Given the description of an element on the screen output the (x, y) to click on. 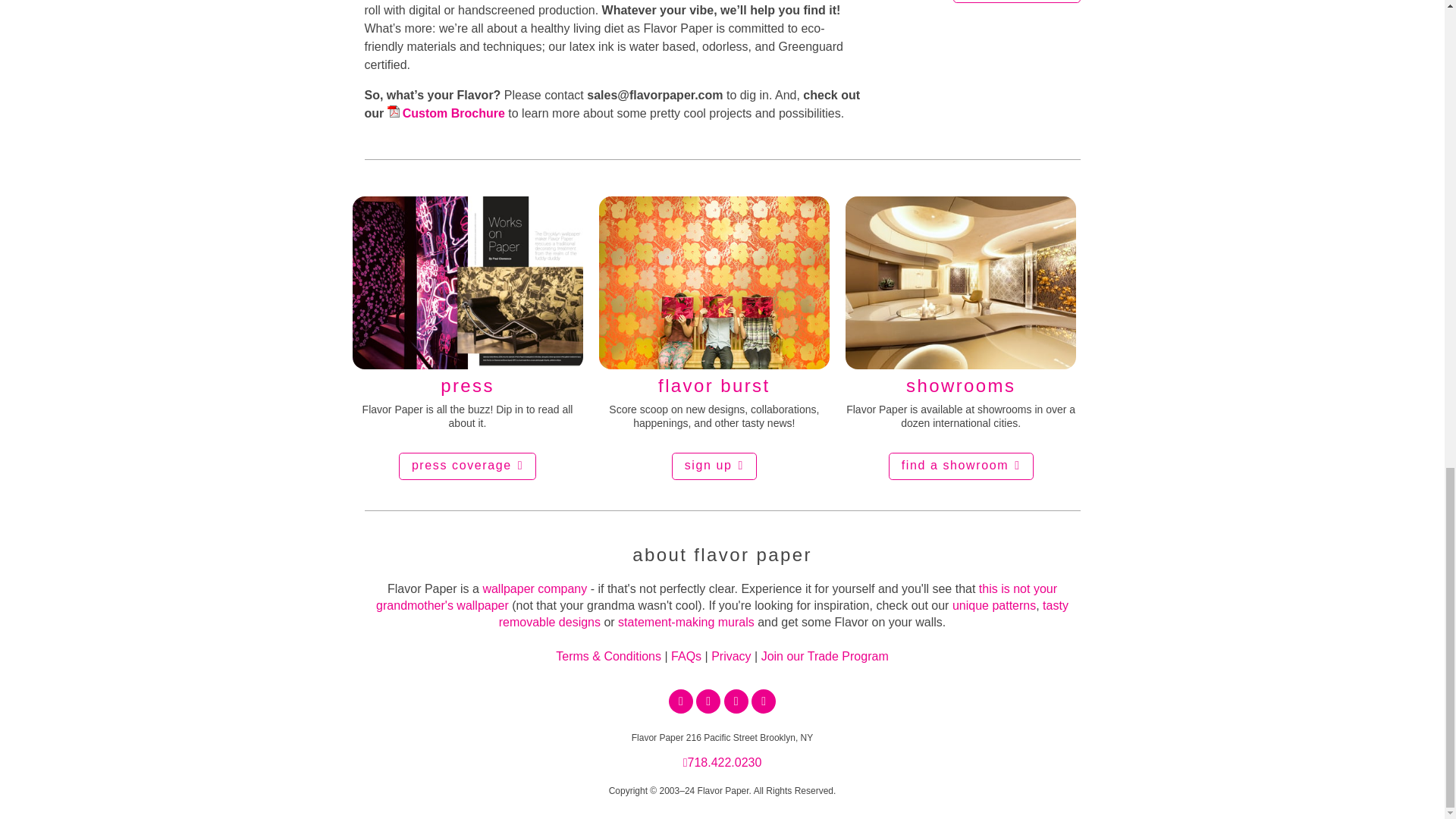
unique patterns (993, 604)
press (467, 299)
FAQs (686, 656)
press coverage (466, 465)
this is not your grandmother's wallpaper (716, 596)
Press Coverage (467, 299)
sign up (714, 465)
Custom Brochure (446, 113)
Privacy (731, 656)
statement-making murals (685, 621)
